Given the description of an element on the screen output the (x, y) to click on. 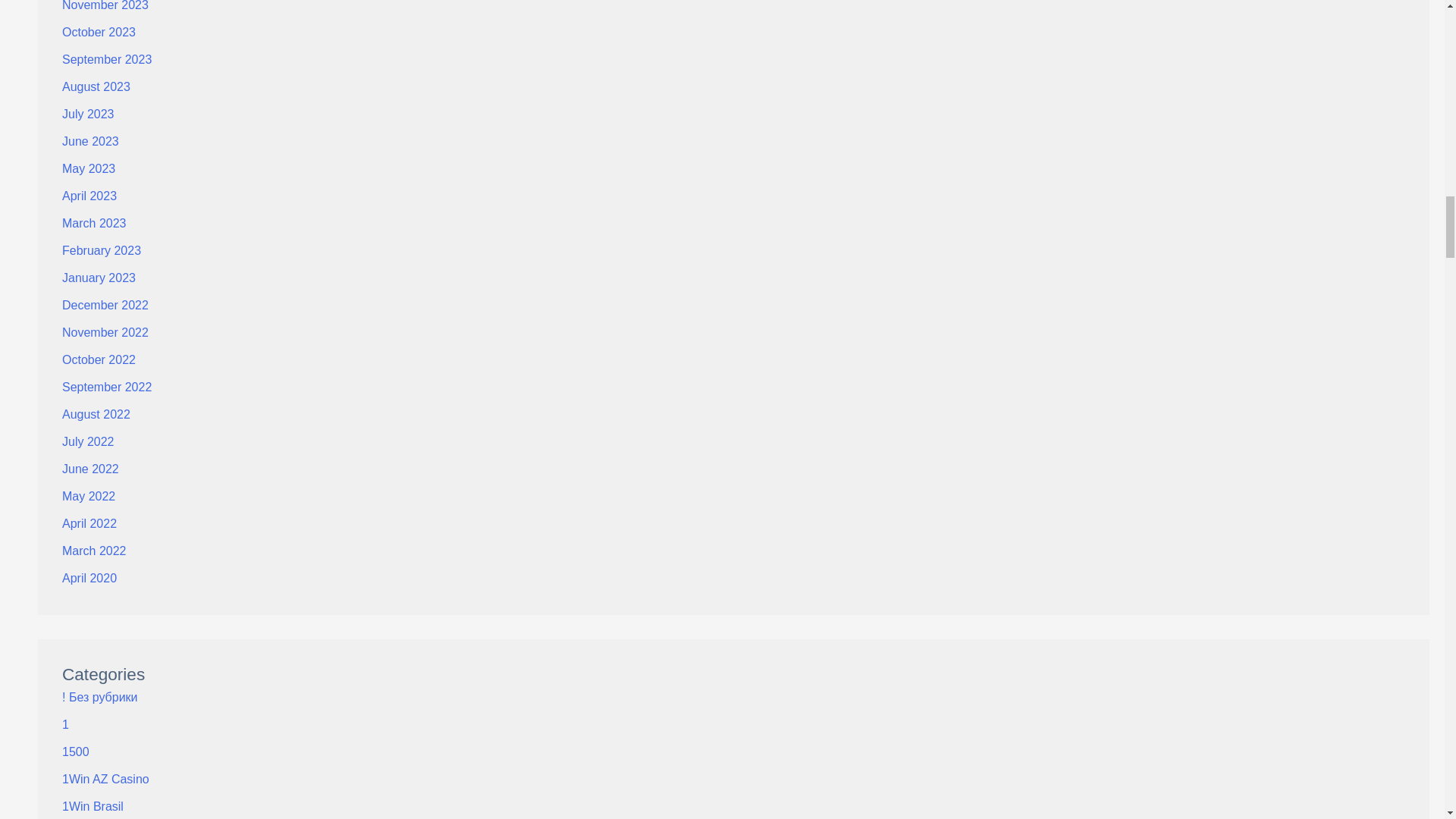
June 2023 (90, 141)
September 2023 (106, 59)
October 2023 (98, 31)
November 2023 (105, 5)
July 2023 (88, 113)
August 2023 (96, 86)
